Given the description of an element on the screen output the (x, y) to click on. 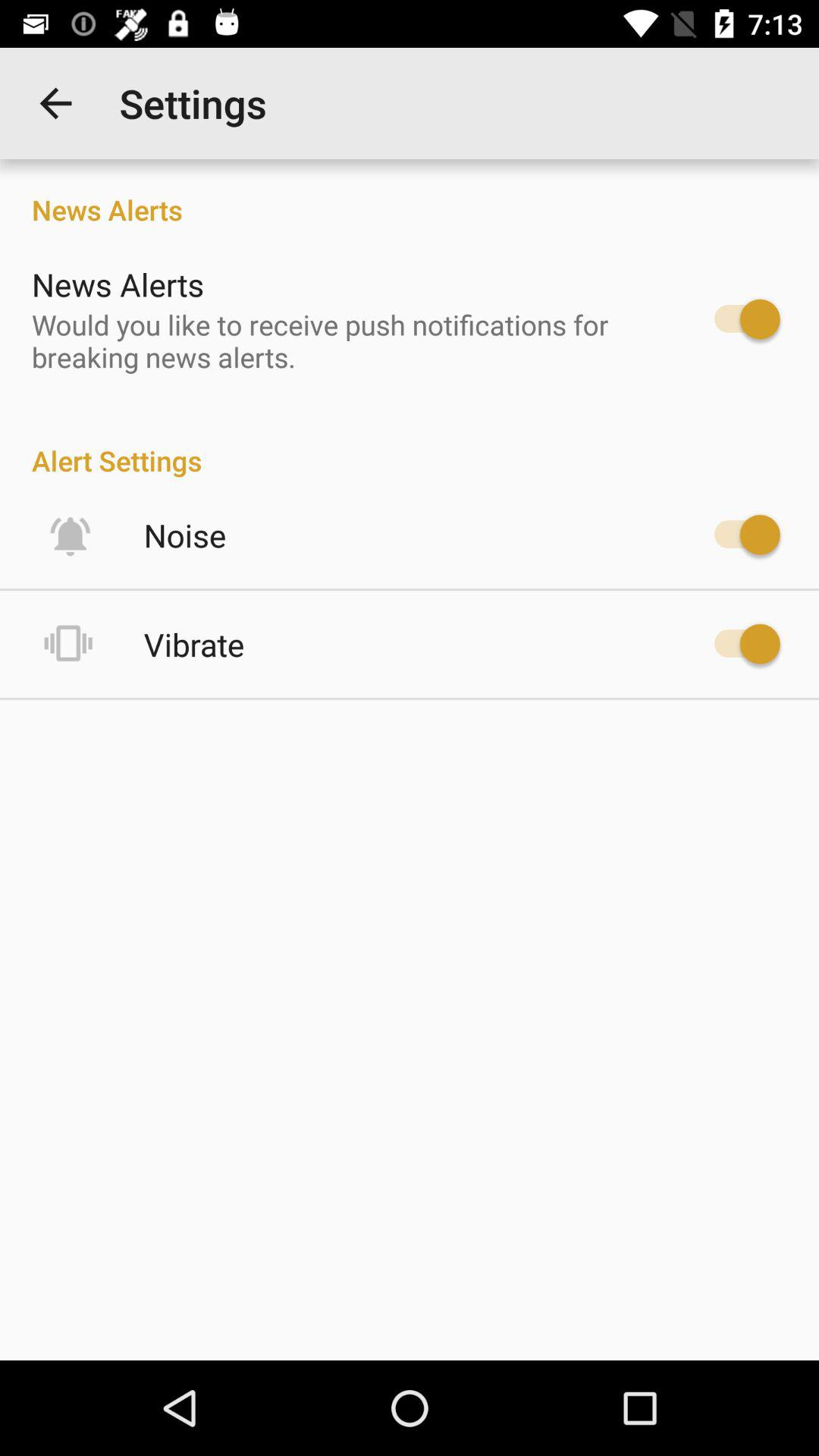
flip to the noise icon (184, 534)
